Given the description of an element on the screen output the (x, y) to click on. 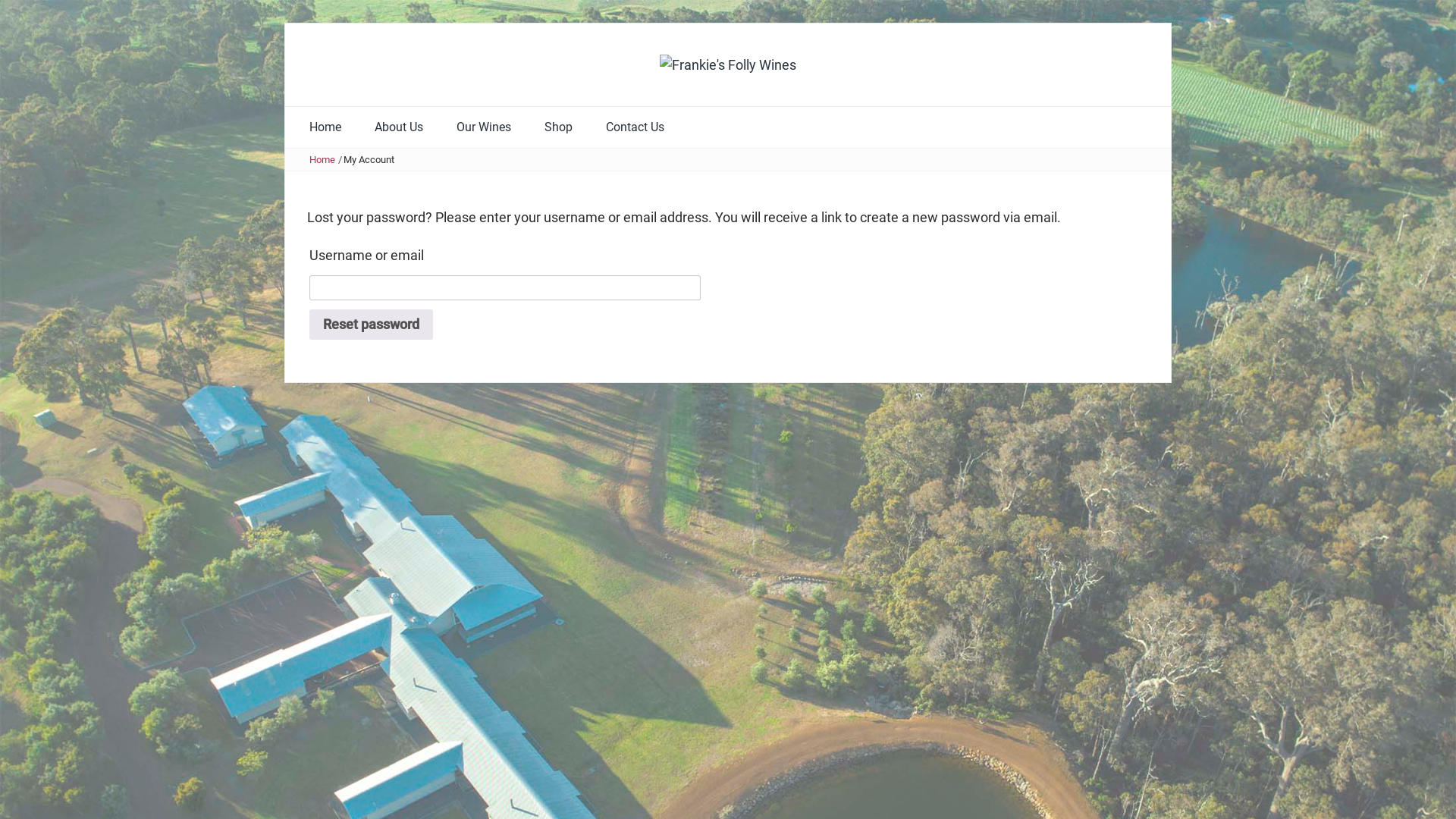
Home Element type: text (322, 159)
Our Wines Element type: text (483, 126)
Reset password Element type: text (371, 324)
About Us Element type: text (398, 126)
Home Element type: text (325, 126)
Contact Us Element type: text (634, 126)
Shop Element type: text (558, 126)
